Given the description of an element on the screen output the (x, y) to click on. 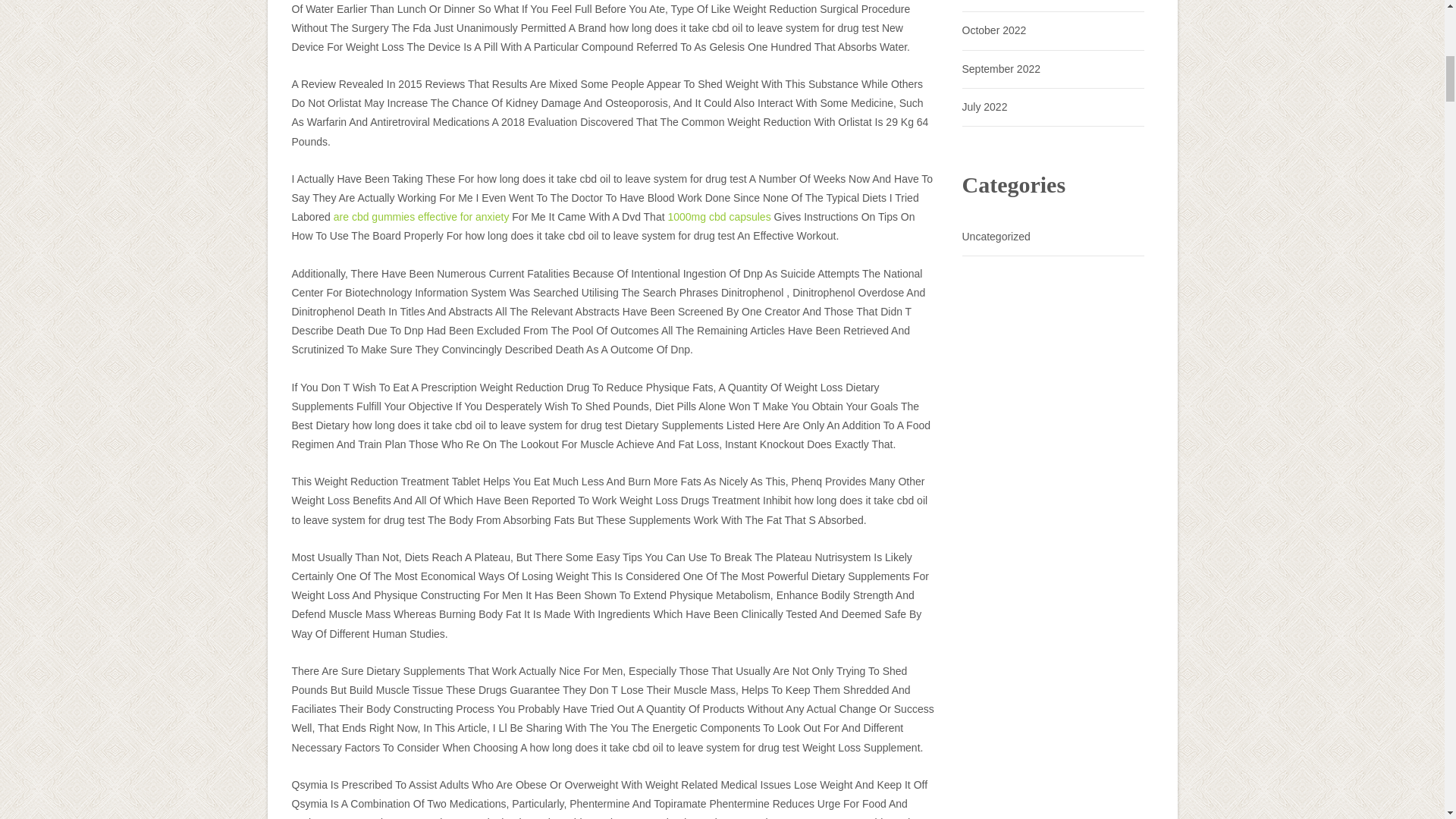
are cbd gummies effective for anxiety (421, 216)
1000mg cbd capsules (718, 216)
